Given the description of an element on the screen output the (x, y) to click on. 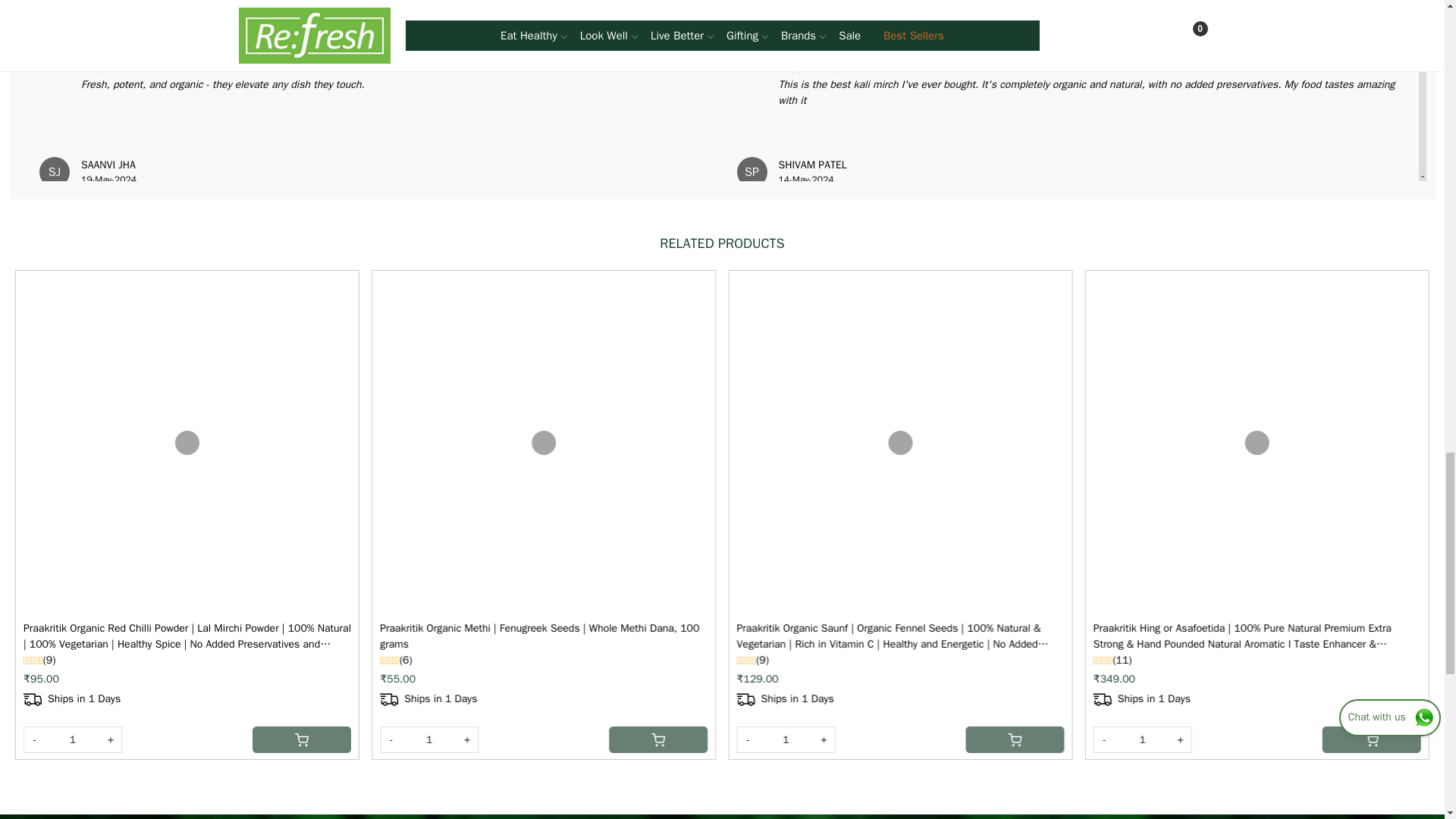
1 (72, 739)
1 (785, 739)
1 (1142, 739)
1 (429, 739)
